Given the description of an element on the screen output the (x, y) to click on. 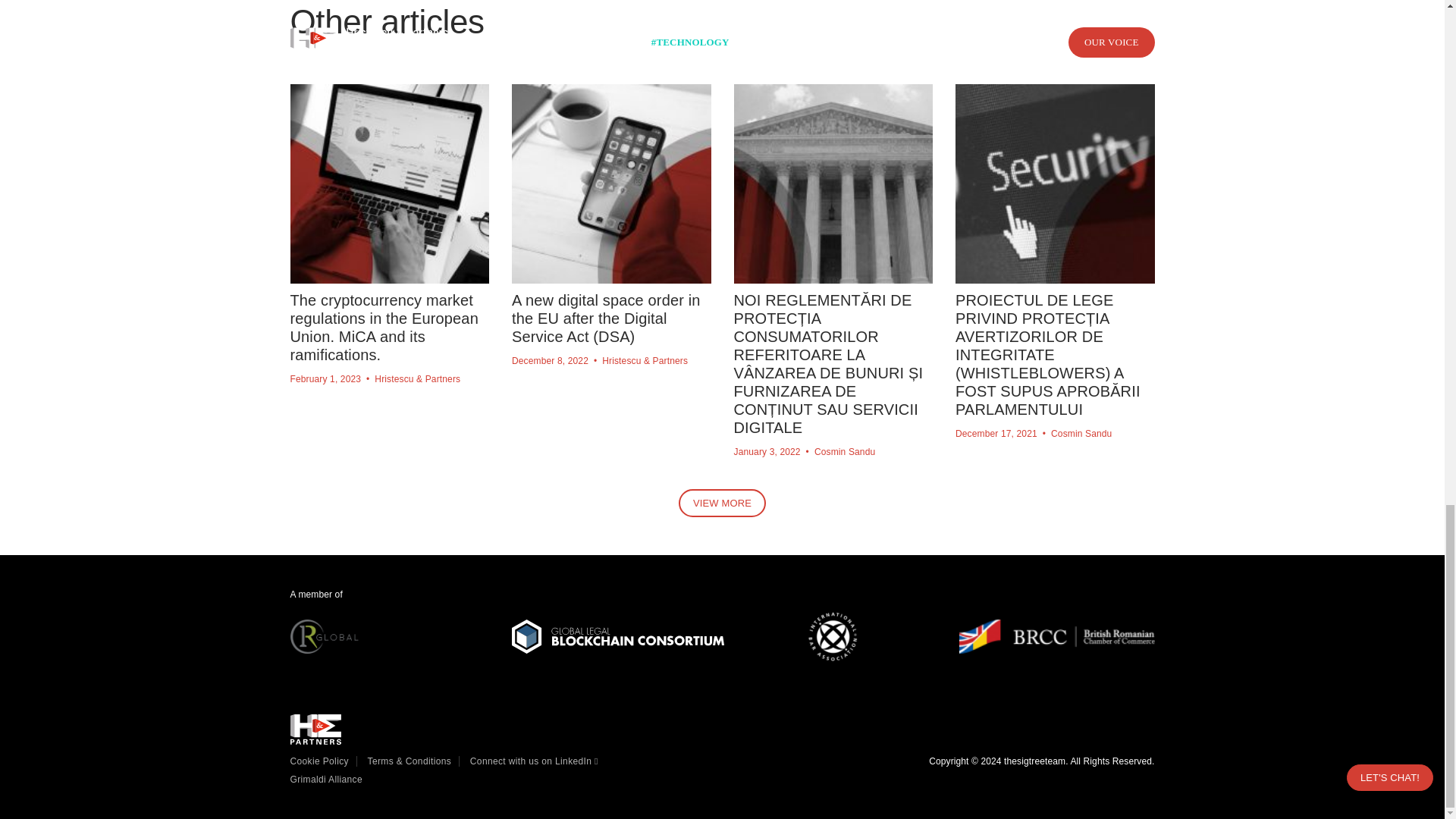
Connect with us on LinkedIn (534, 760)
Cookie Policy (322, 760)
VIEW MORE (721, 502)
Grimaldi Alliance (329, 778)
